Given the description of an element on the screen output the (x, y) to click on. 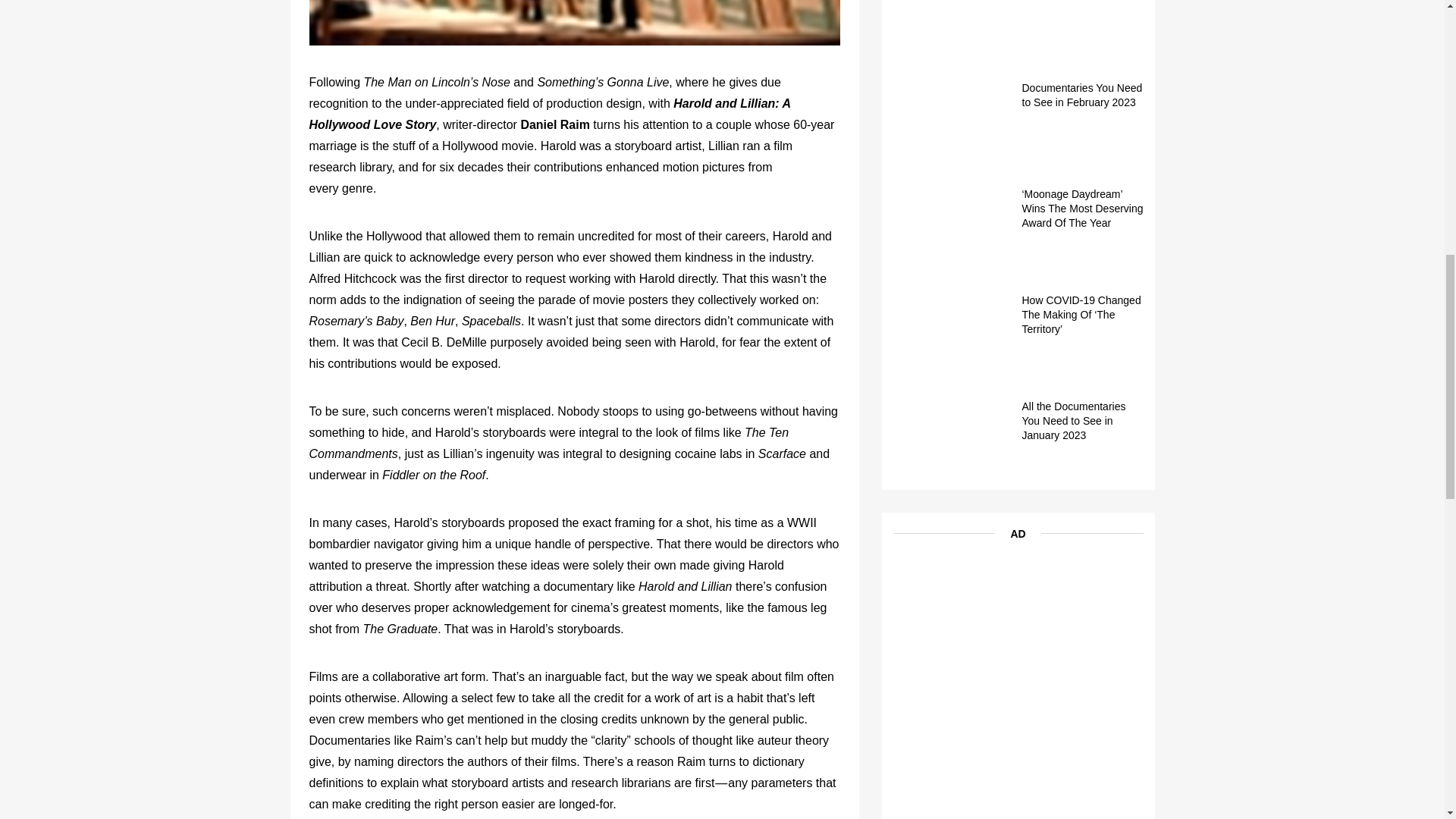
All the Documentaries You Need to See in January 2023 (1082, 421)
Documentaries You Need to See in March 2023 (1082, 2)
Documentaries You Need to See in February 2023 (1082, 95)
